Given the description of an element on the screen output the (x, y) to click on. 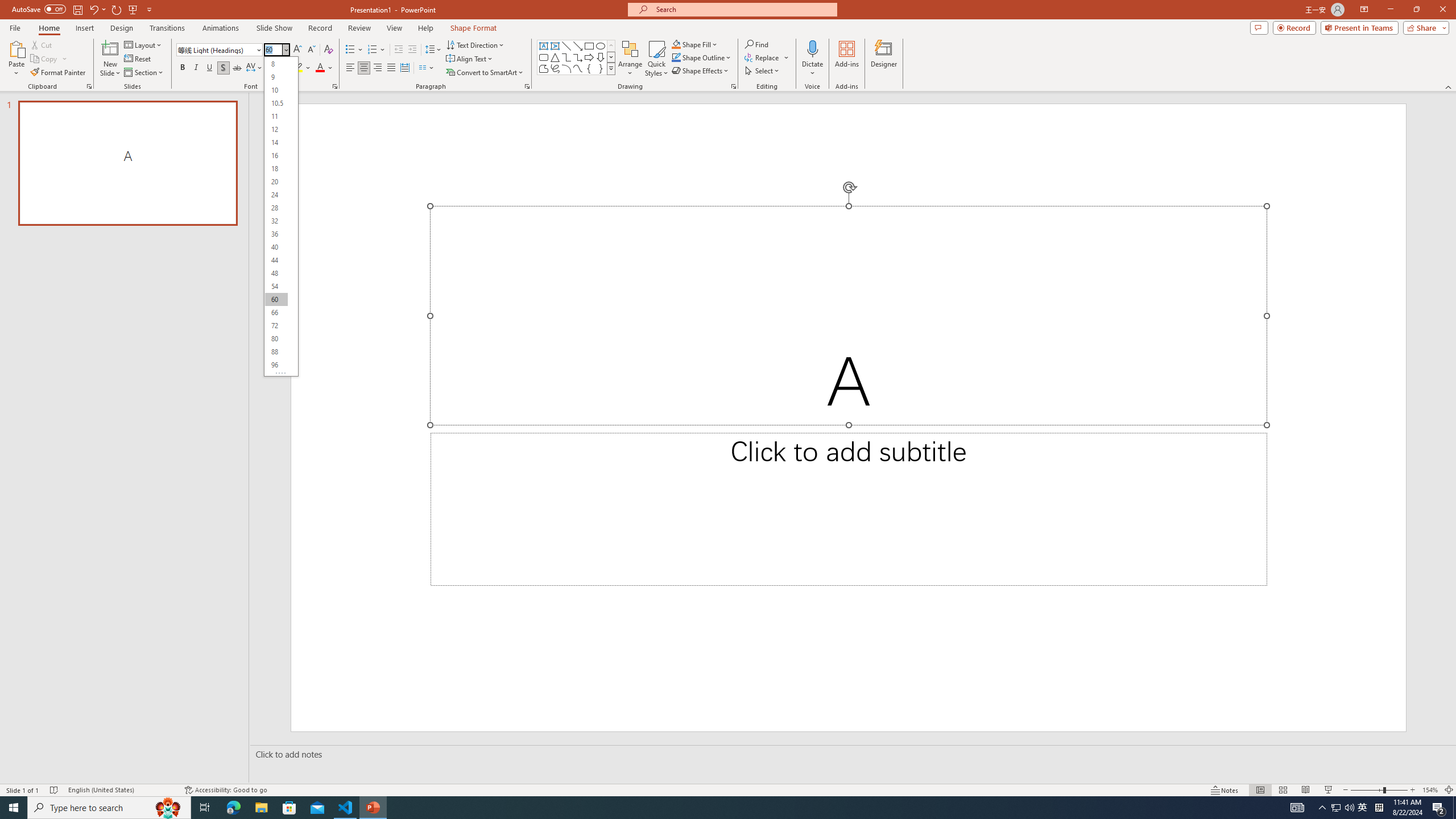
9 (276, 76)
36 (276, 233)
